Given the description of an element on the screen output the (x, y) to click on. 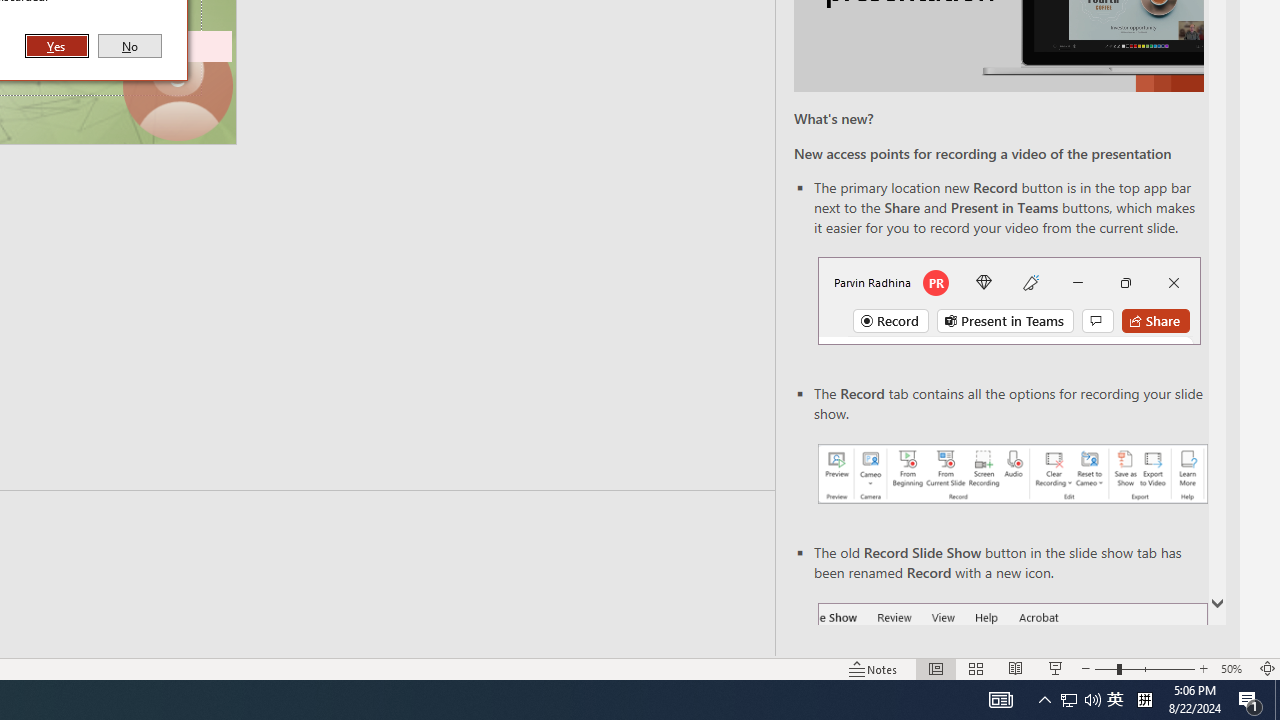
Record your presentations screenshot one (1012, 473)
Yes (57, 45)
Record button in top bar (1008, 300)
Zoom 50% (1234, 668)
